Given the description of an element on the screen output the (x, y) to click on. 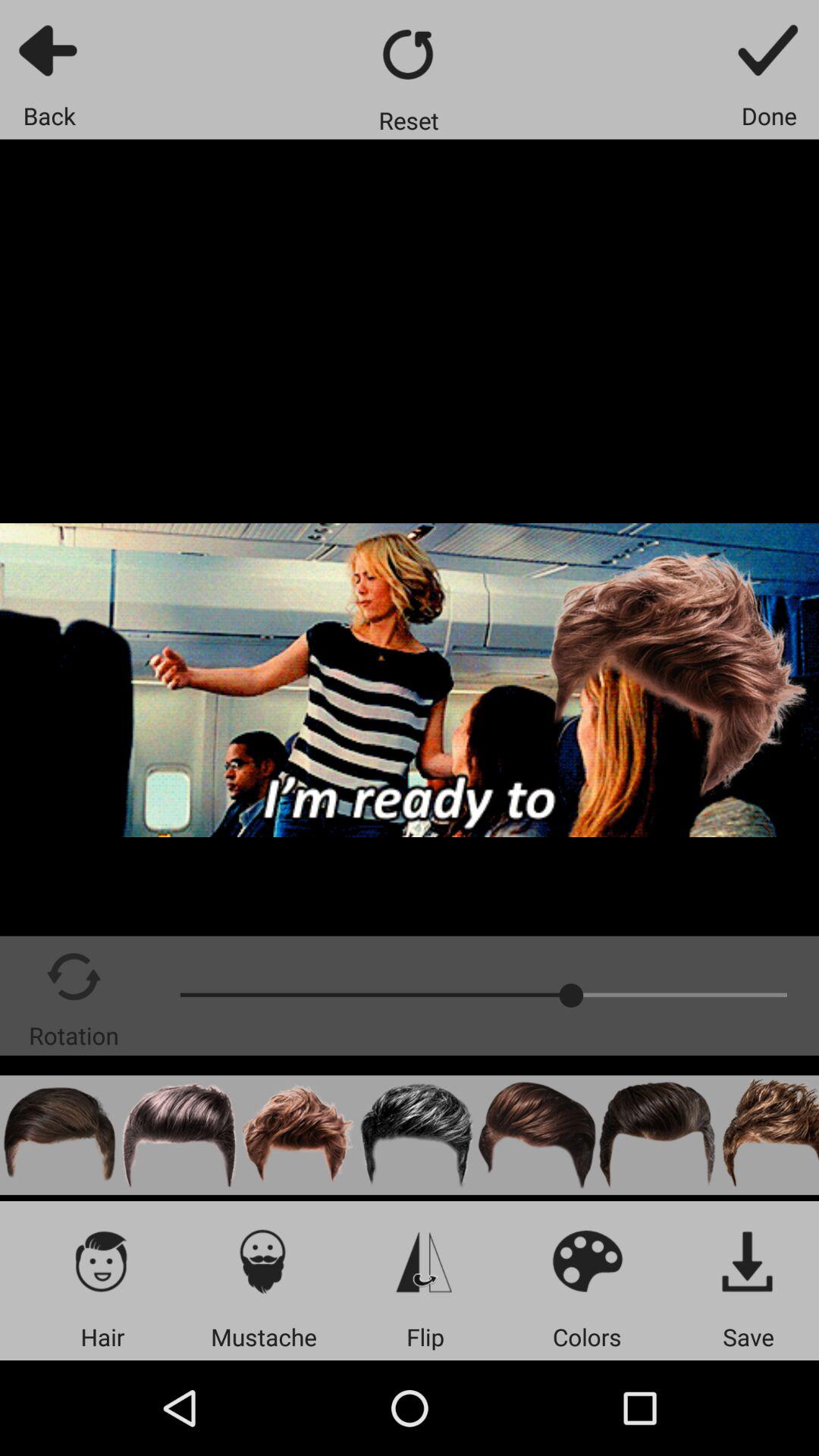
reset (408, 54)
